Given the description of an element on the screen output the (x, y) to click on. 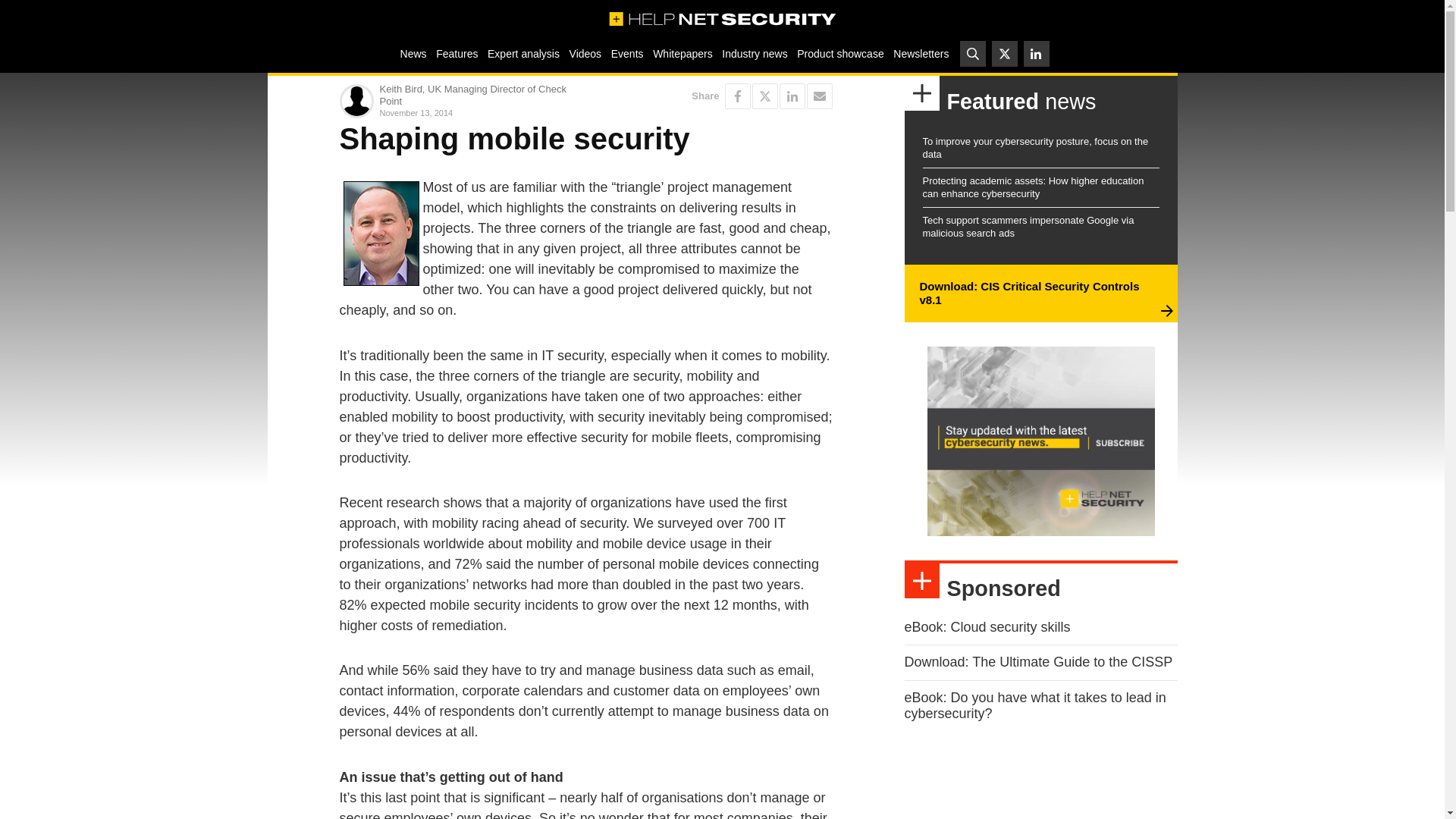
Product showcase (840, 53)
Download: The Ultimate Guide to the CISSP (1038, 661)
News (412, 53)
Share Shaping mobile security on LinkedIn (791, 95)
Newsletters (920, 53)
Share Shaping mobile security on Facebook (738, 95)
Download: CIS Critical Security Controls v8.1 (1028, 293)
Expert analysis (523, 53)
eBook: Cloud security skills (987, 626)
